Given the description of an element on the screen output the (x, y) to click on. 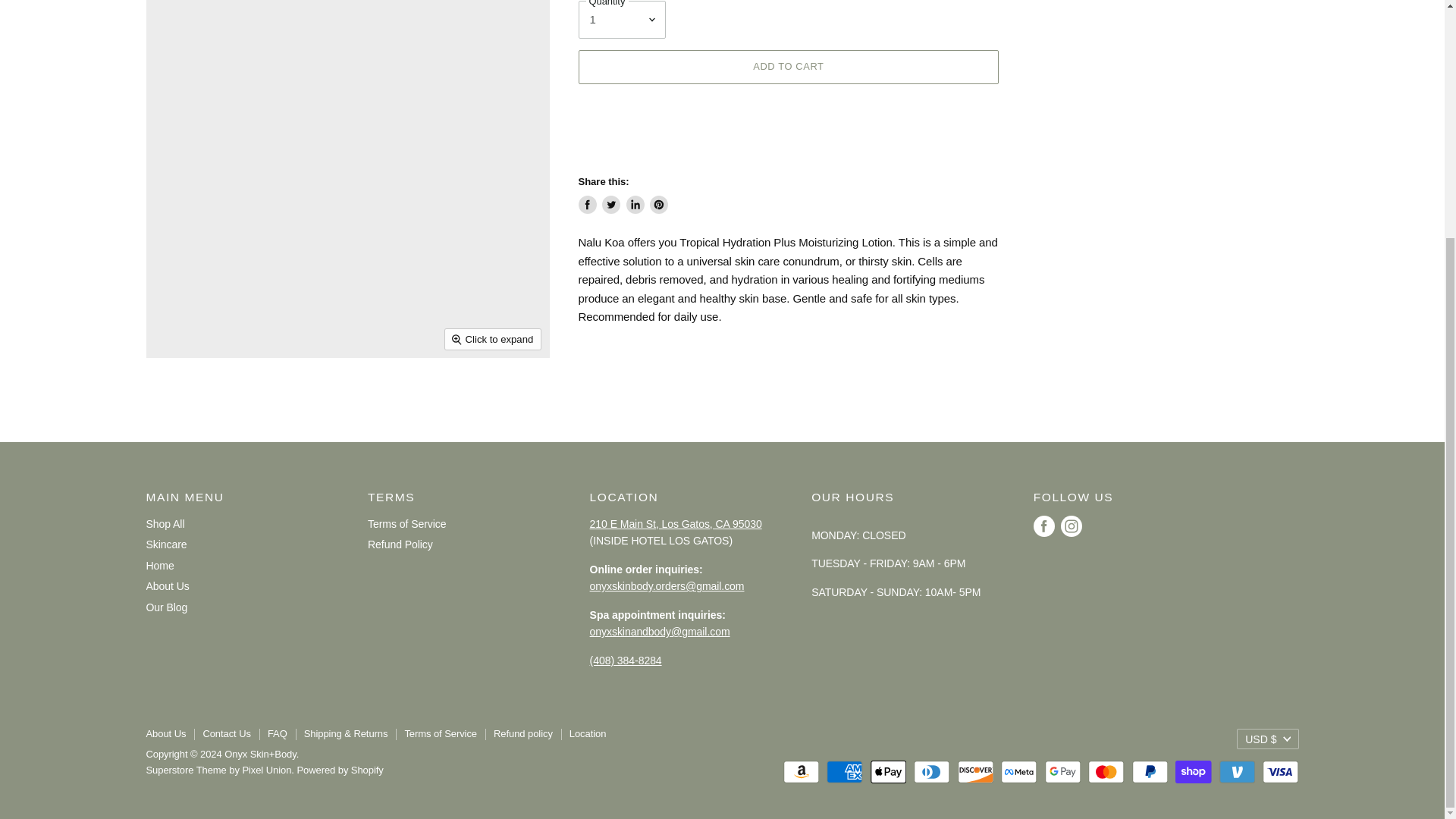
Facebook (1044, 525)
Instagram (1071, 525)
tel:4083848284 (625, 660)
